Given the description of an element on the screen output the (x, y) to click on. 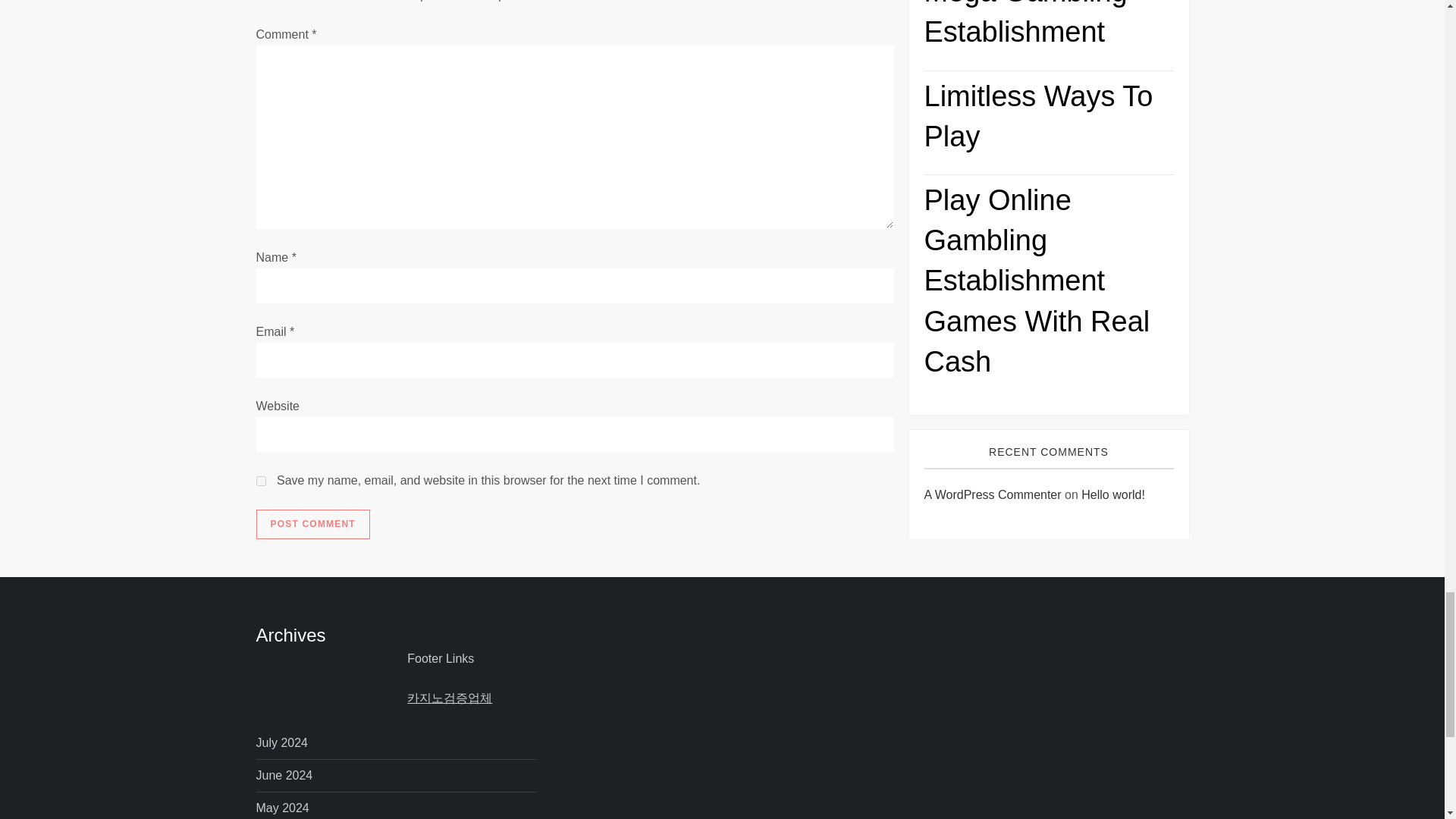
June 2024 (284, 775)
Post Comment (312, 524)
May 2024 (282, 808)
Post Comment (312, 524)
yes (261, 480)
July 2024 (282, 742)
